Given the description of an element on the screen output the (x, y) to click on. 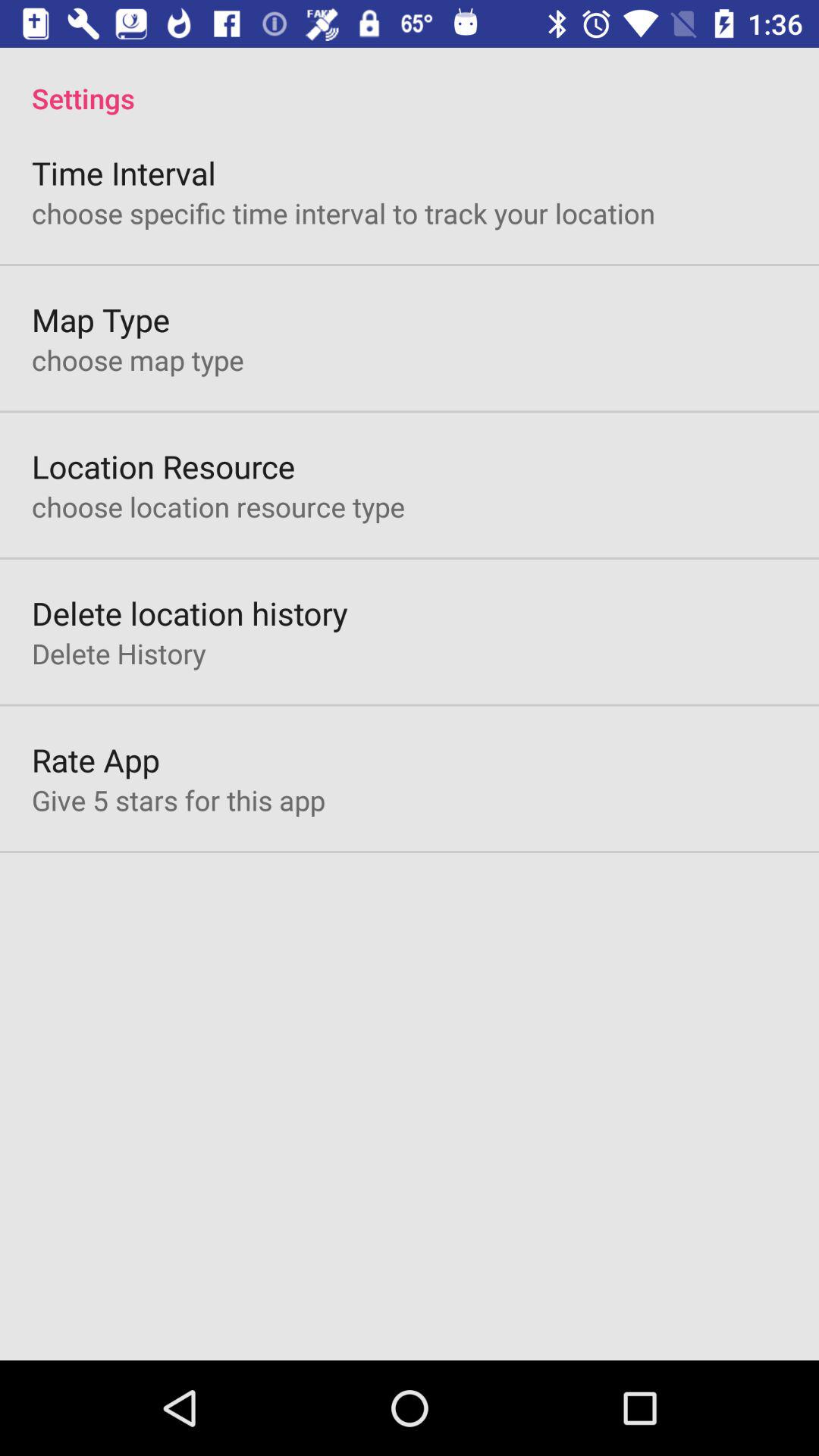
select the item above time interval app (409, 82)
